Given the description of an element on the screen output the (x, y) to click on. 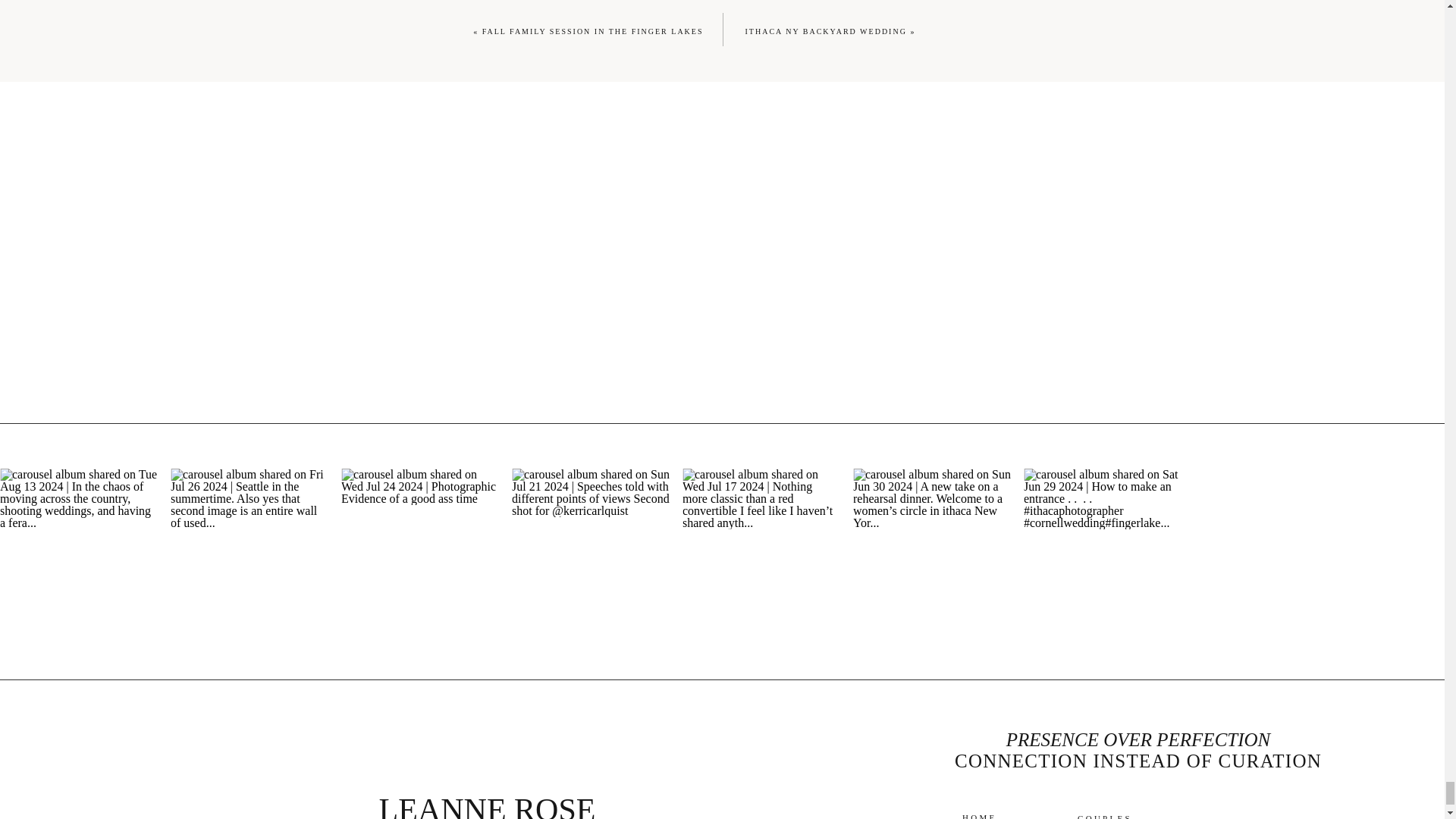
COUPLES (1109, 815)
HOME (982, 815)
ITHACA NY BACKYARD WEDDING (824, 31)
FALL FAMILY SESSION IN THE FINGER LAKES (592, 31)
